Given the description of an element on the screen output the (x, y) to click on. 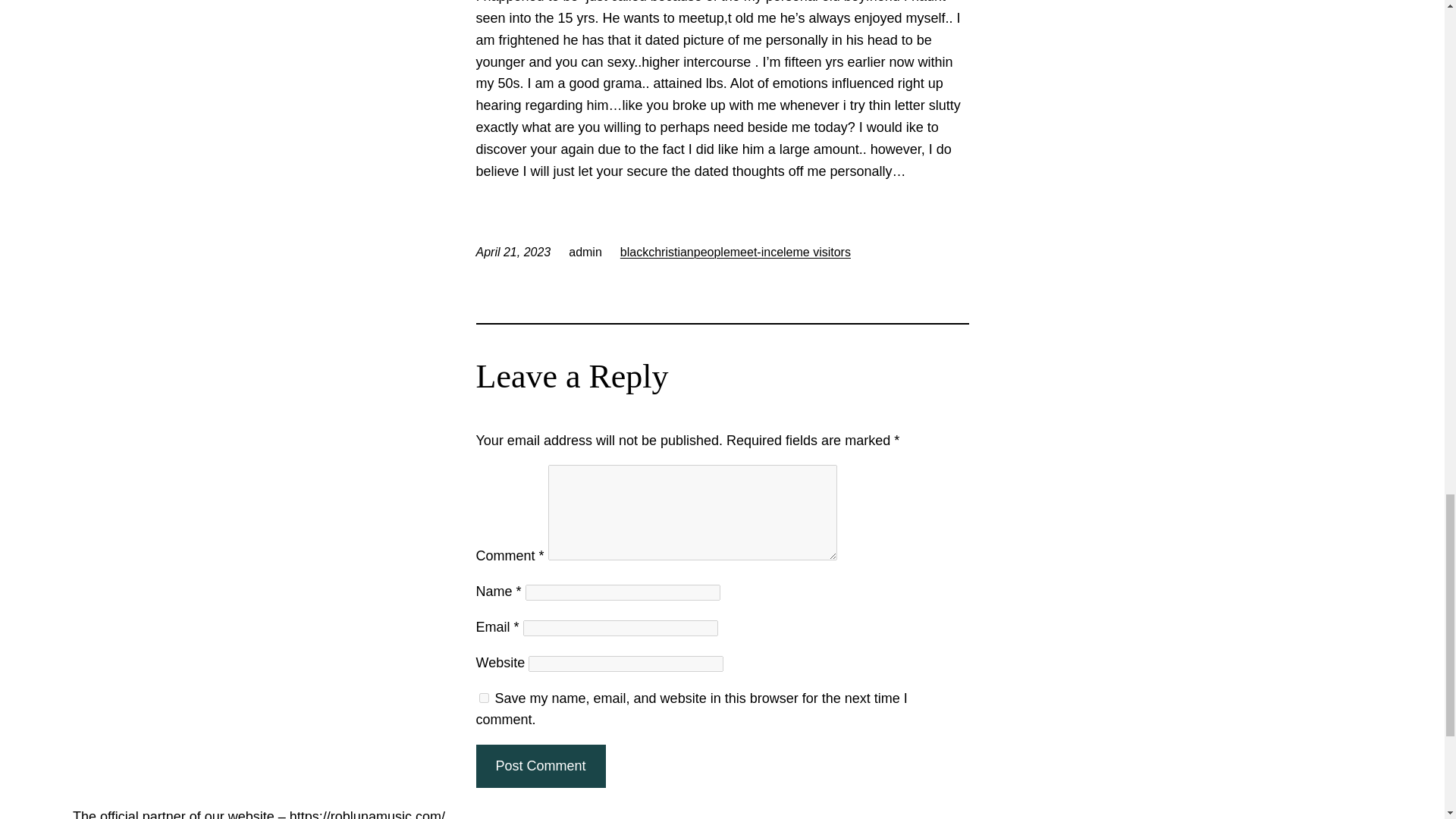
yes (484, 697)
Post Comment (540, 765)
Post Comment (540, 765)
blackchristianpeoplemeet-inceleme visitors (735, 251)
